Given the description of an element on the screen output the (x, y) to click on. 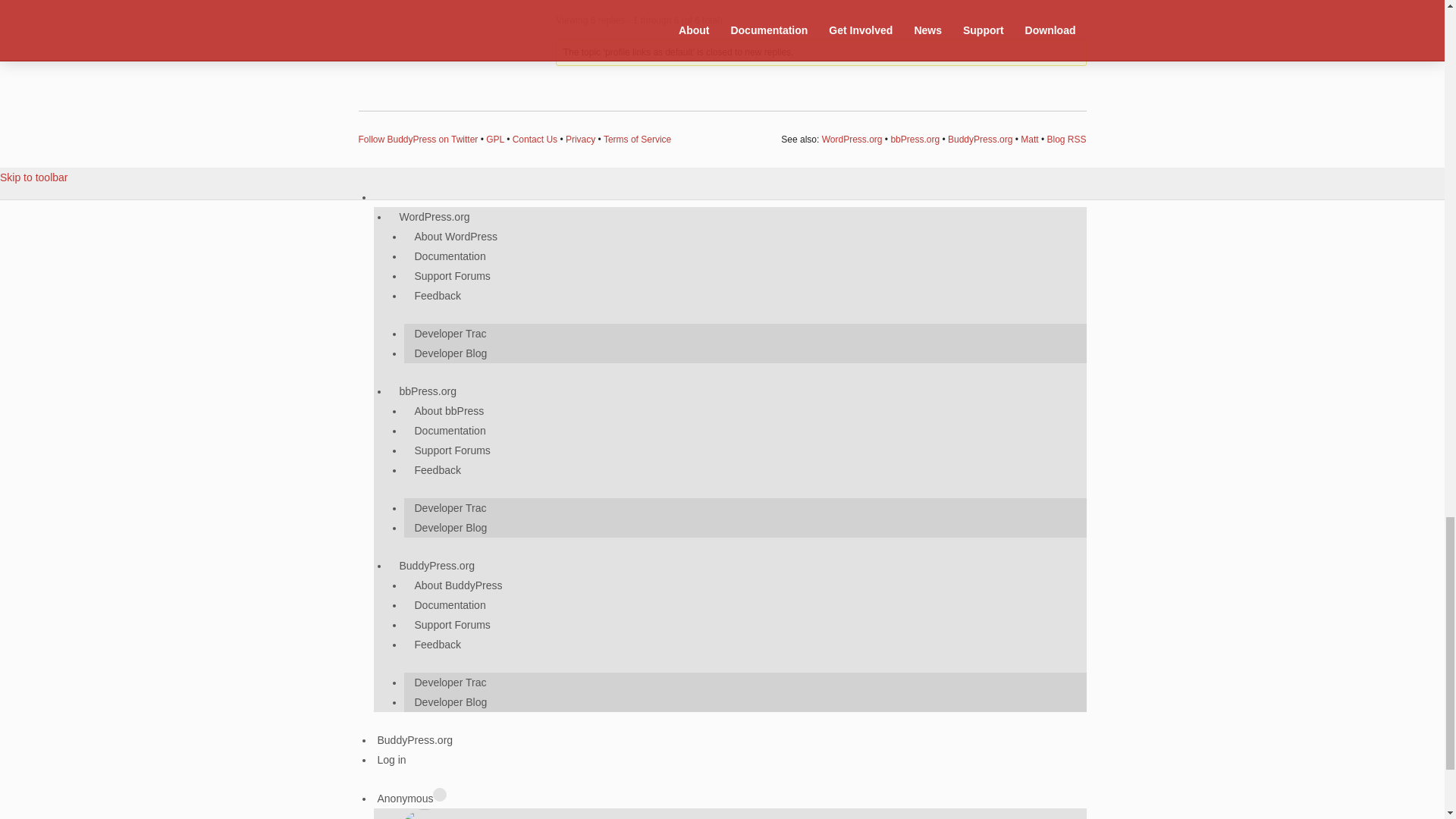
Matt (1029, 139)
BuddyPress.org (979, 139)
WordPress.org (852, 139)
bbPress.org (914, 139)
